Given the description of an element on the screen output the (x, y) to click on. 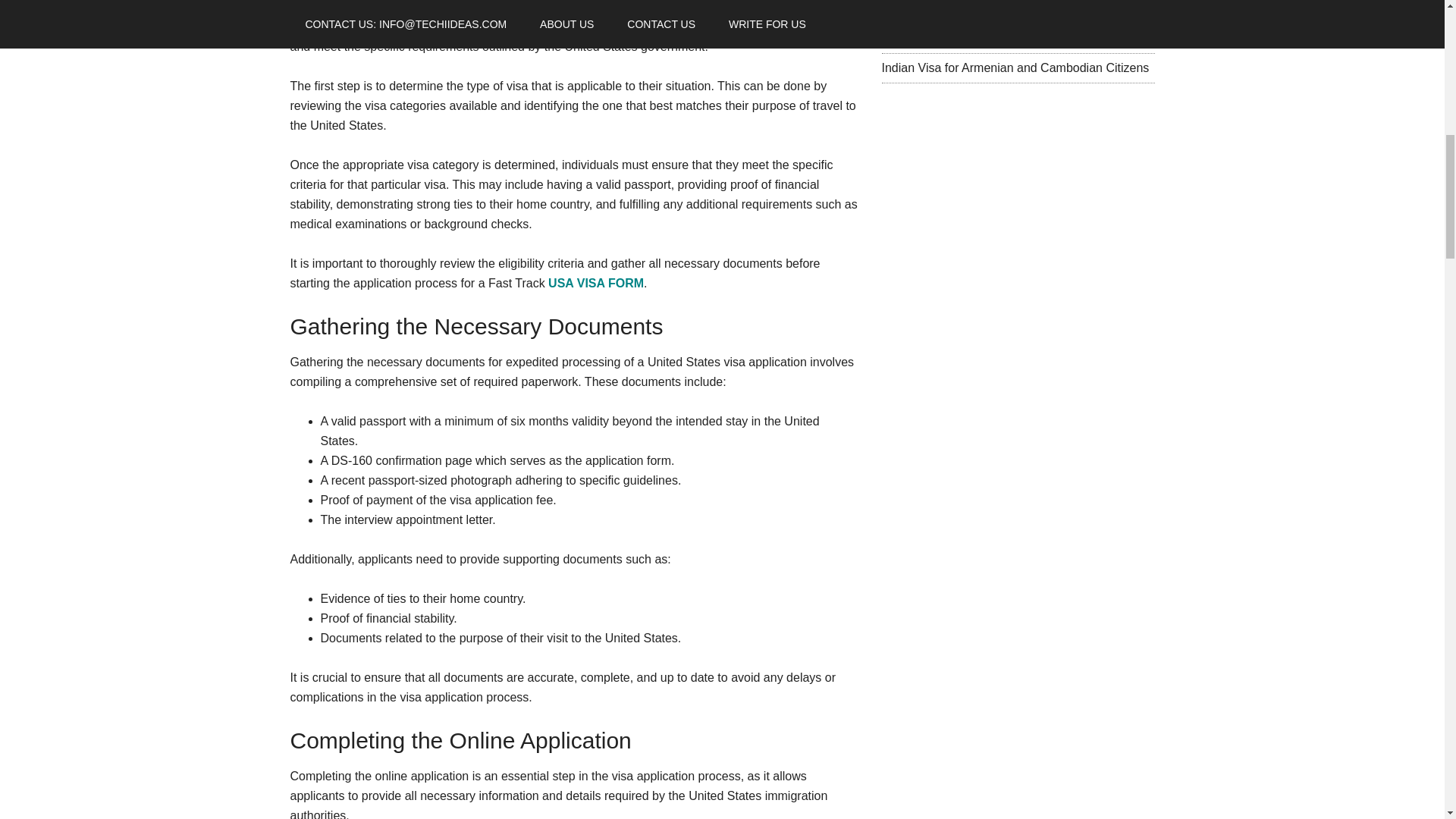
Tourist Visa Application Process for Turkey (994, 38)
Indian Visa for Armenian and Cambodian Citizens (1014, 67)
USA VISA FORM (595, 282)
